Given the description of an element on the screen output the (x, y) to click on. 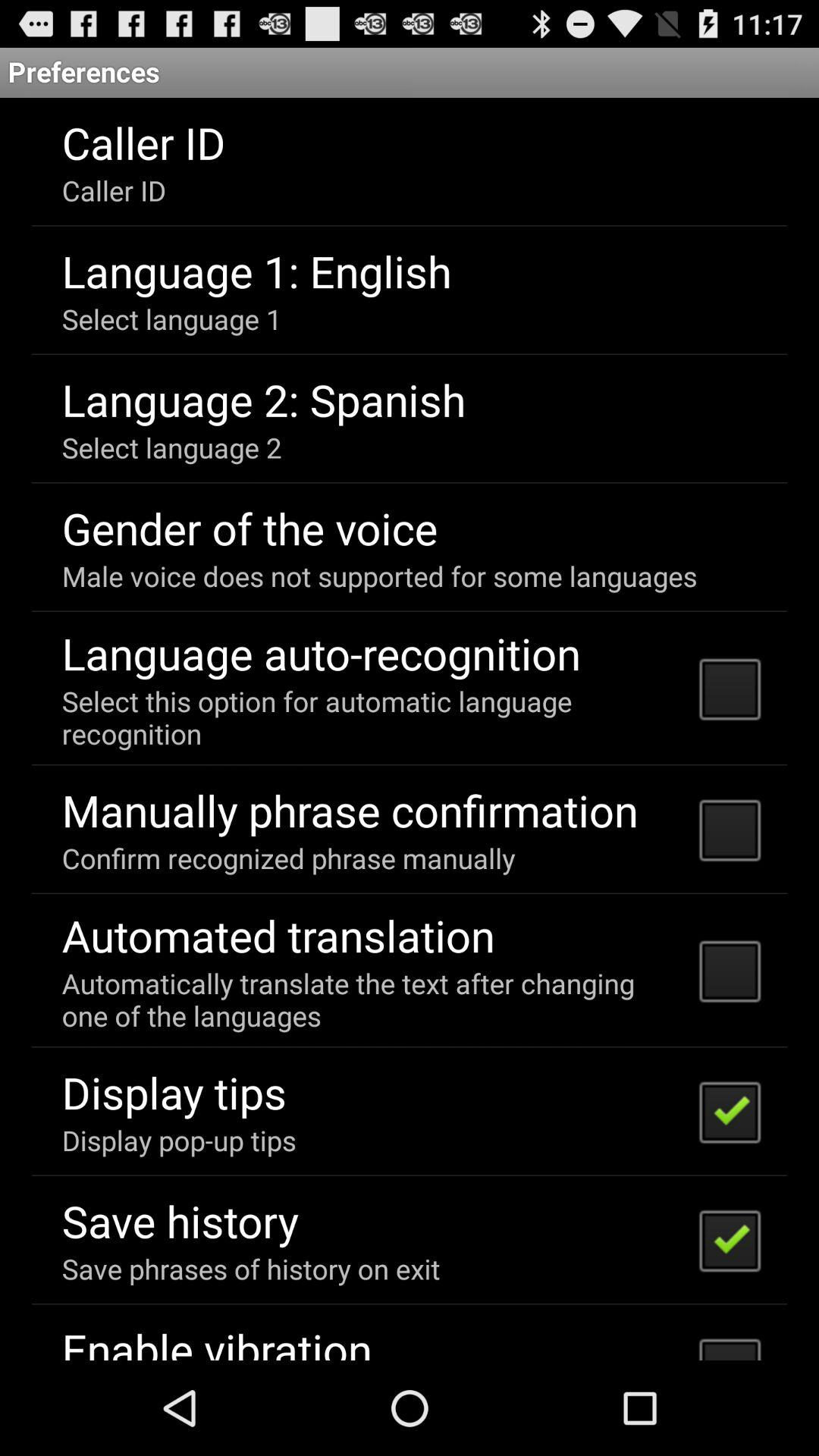
turn off the item above enable vibration icon (250, 1268)
